Given the description of an element on the screen output the (x, y) to click on. 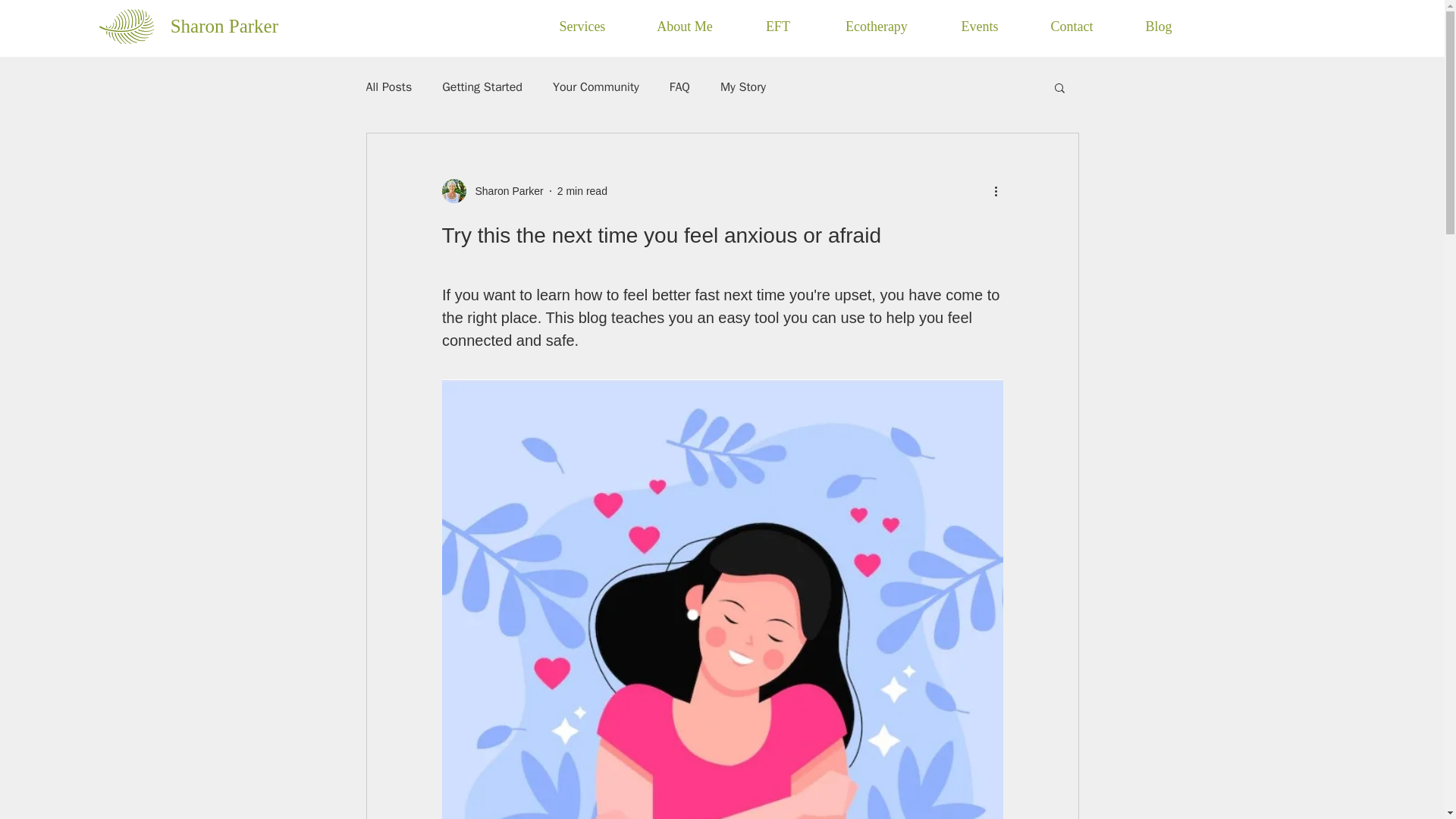
Services (581, 26)
Getting Started (482, 86)
Blog (1157, 26)
Events (978, 26)
All Posts (388, 86)
My Story (742, 86)
EFT (777, 26)
Your Community (596, 86)
Ecotherapy (875, 26)
FAQ (679, 86)
Sharon Parker (504, 191)
Sharon Parker (224, 25)
Sharon Parker (492, 191)
Contact (1071, 26)
2 min read (582, 191)
